Given the description of an element on the screen output the (x, y) to click on. 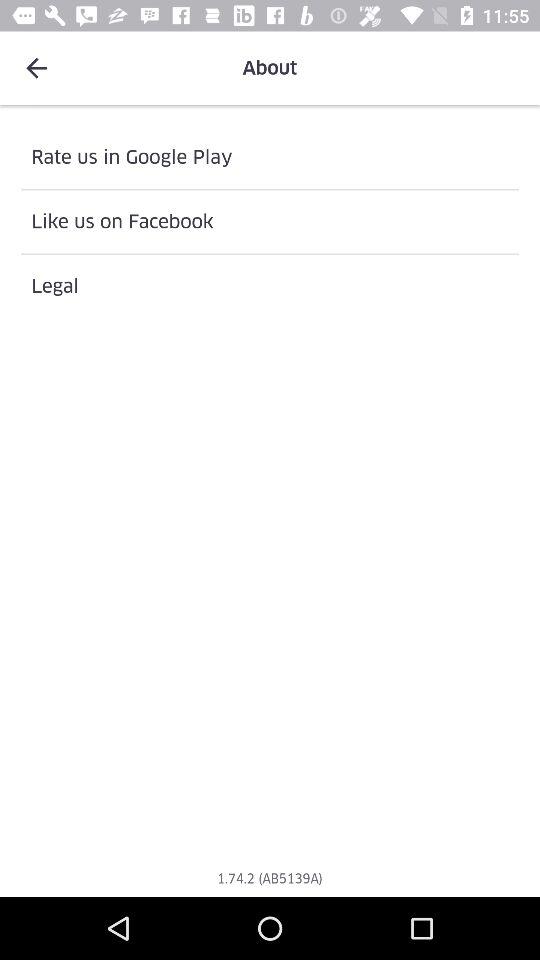
select the rate us in icon (270, 157)
